Given the description of an element on the screen output the (x, y) to click on. 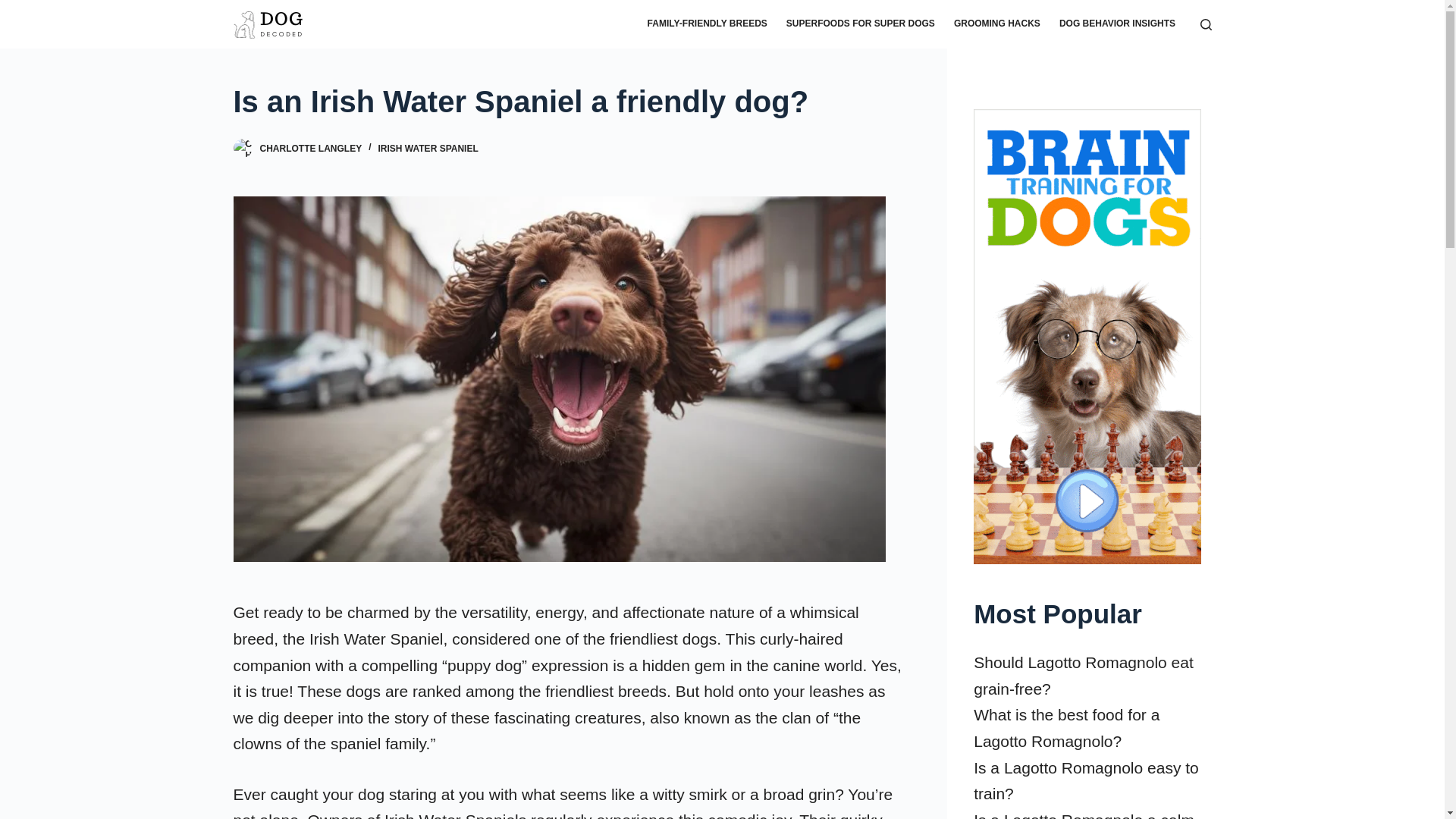
SUPERFOODS FOR SUPER DOGS (859, 24)
Should Lagotto Romagnolo eat grain-free? (1083, 675)
Skip to content (15, 7)
What is the best food for a Lagotto Romagnolo? (1066, 727)
Is a Lagotto Romagnolo easy to train? (1086, 781)
Is an Irish Water Spaniel a friendly dog? (570, 101)
IRISH WATER SPANIEL (428, 148)
FAMILY-FRIENDLY BREEDS (706, 24)
Posts by Charlotte Langley (310, 148)
CHARLOTTE LANGLEY (310, 148)
